Given the description of an element on the screen output the (x, y) to click on. 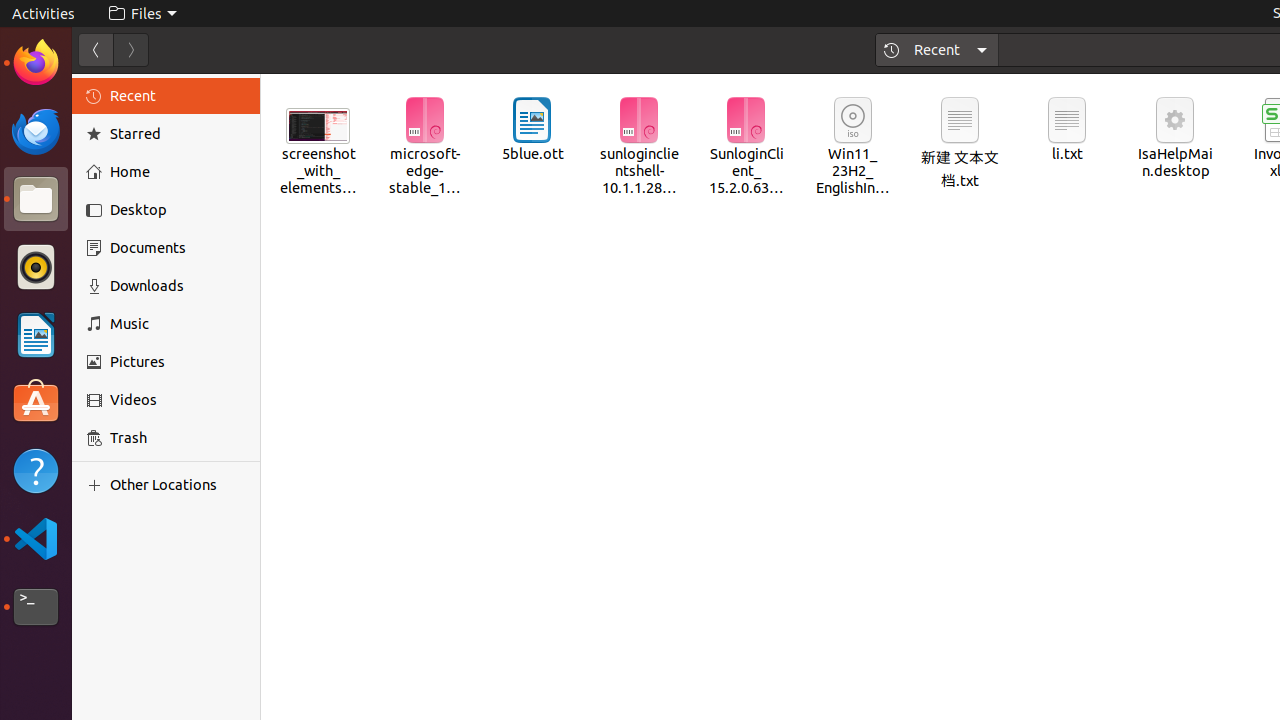
Activities Element type: label (43, 13)
Home Element type: label (178, 172)
Terminal Element type: push-button (36, 607)
